Given the description of an element on the screen output the (x, y) to click on. 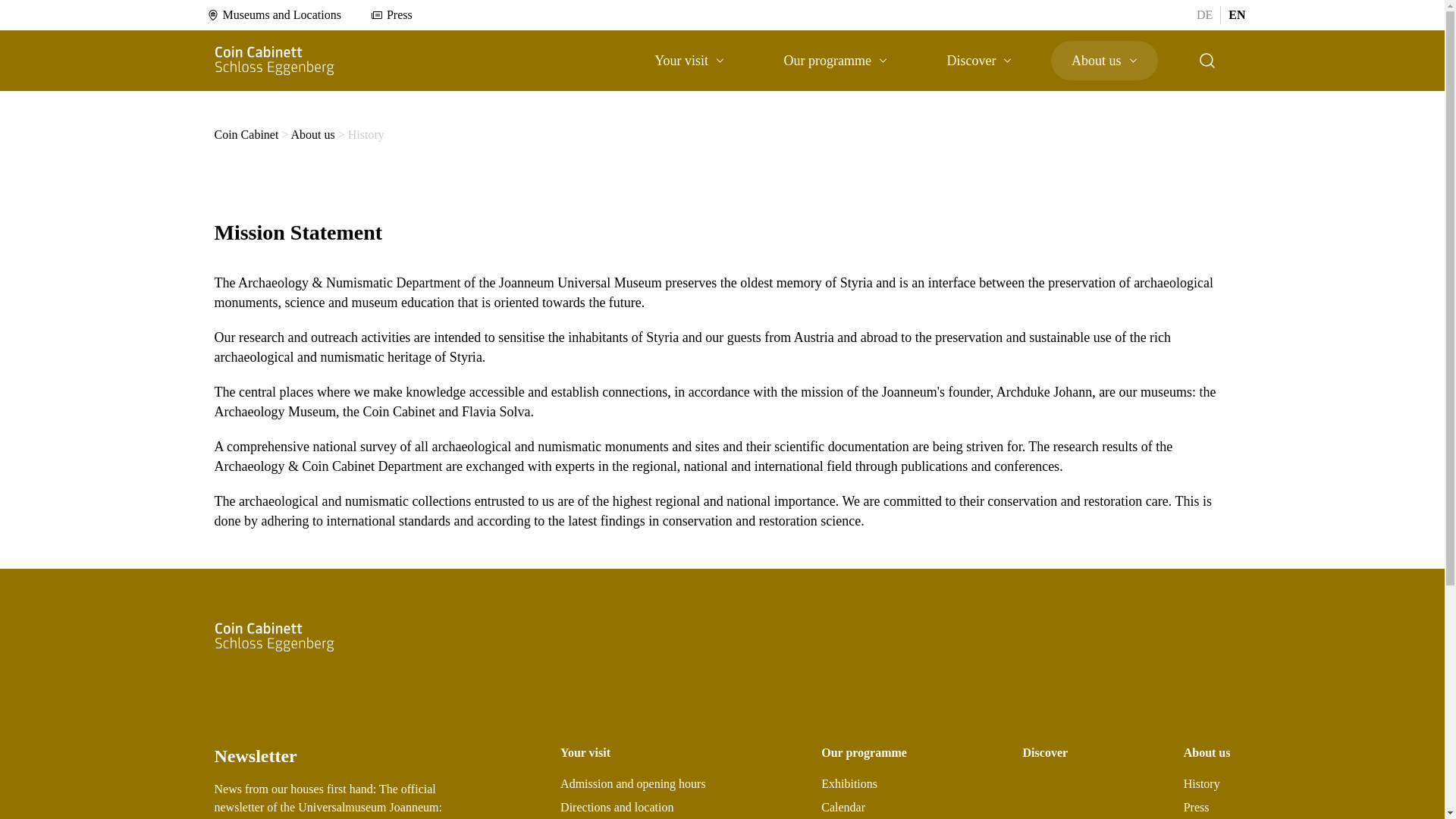
DE (1204, 14)
About us (1104, 60)
EN (1236, 14)
Press (391, 15)
Discover (978, 60)
Museums and Locations (272, 15)
Our programme (835, 60)
Your visit (688, 60)
